Given the description of an element on the screen output the (x, y) to click on. 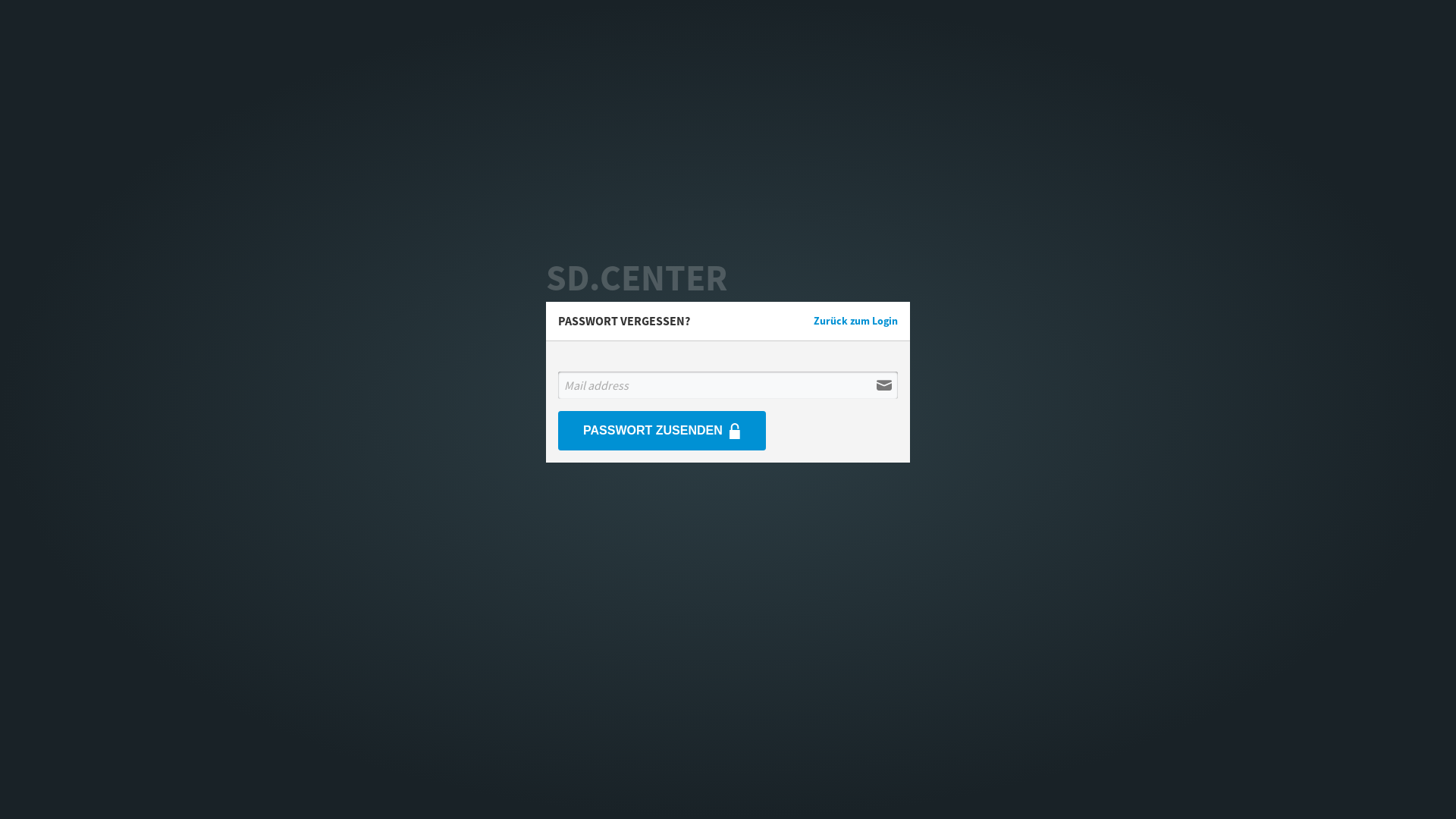
PASSWORT ZUSENDEN Element type: text (661, 430)
